Given the description of an element on the screen output the (x, y) to click on. 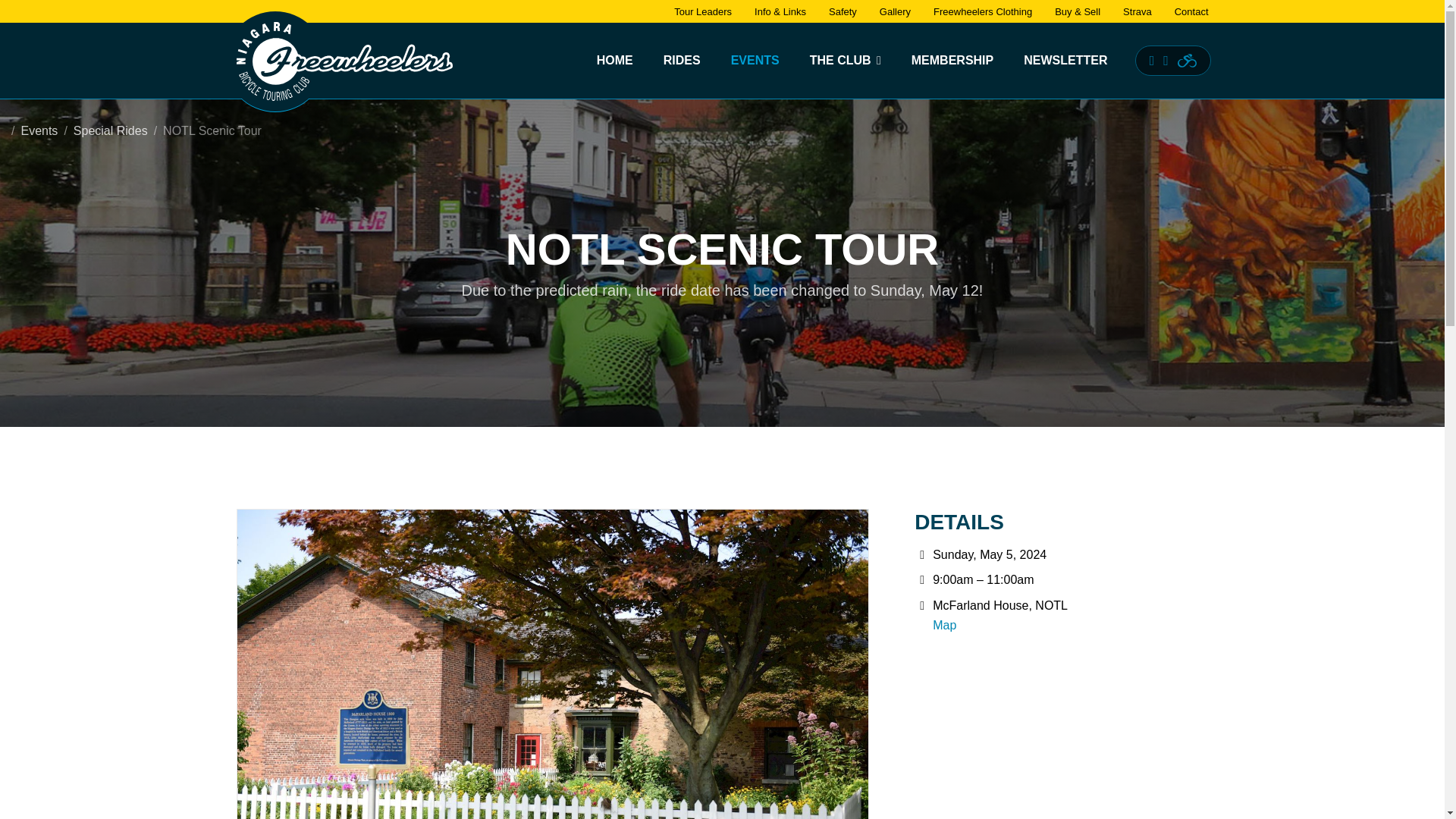
EVENTS (755, 60)
Gallery (894, 11)
NEWSLETTER (1065, 60)
Safety (841, 11)
THE CLUB (845, 60)
Freewheelers Clothing (982, 11)
Tour Leaders (702, 11)
Niagara Freewheelers on Ride with GPS (1187, 60)
MEMBERSHIP (952, 60)
RIDES (681, 60)
